Given the description of an element on the screen output the (x, y) to click on. 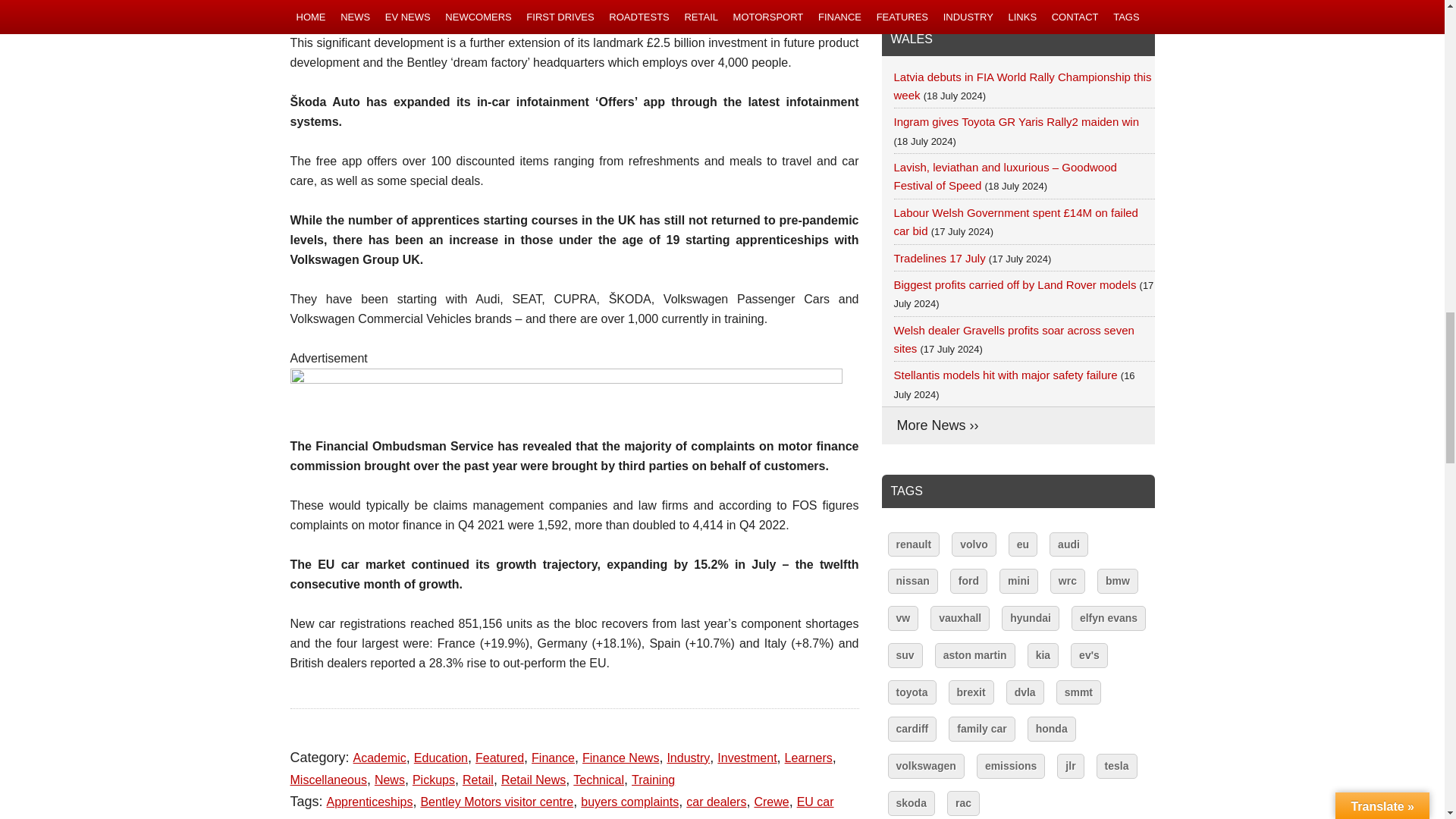
Permanent link to Tradelines 17 July (939, 257)
